Given the description of an element on the screen output the (x, y) to click on. 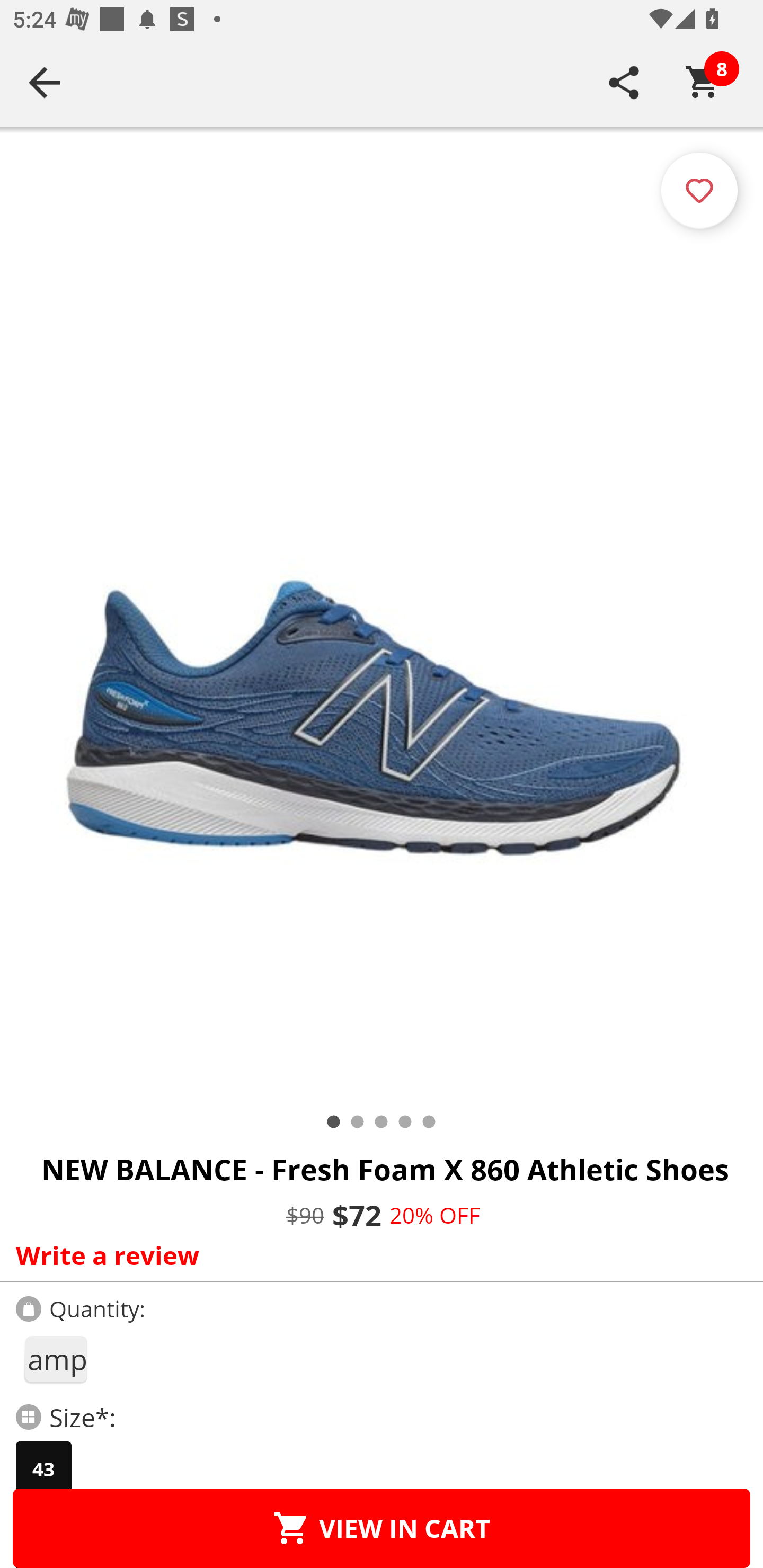
Navigate up (44, 82)
SHARE (623, 82)
Cart (703, 81)
Write a review (377, 1255)
1lamp (55, 1358)
43 (43, 1468)
VIEW IN CART (381, 1528)
